Given the description of an element on the screen output the (x, y) to click on. 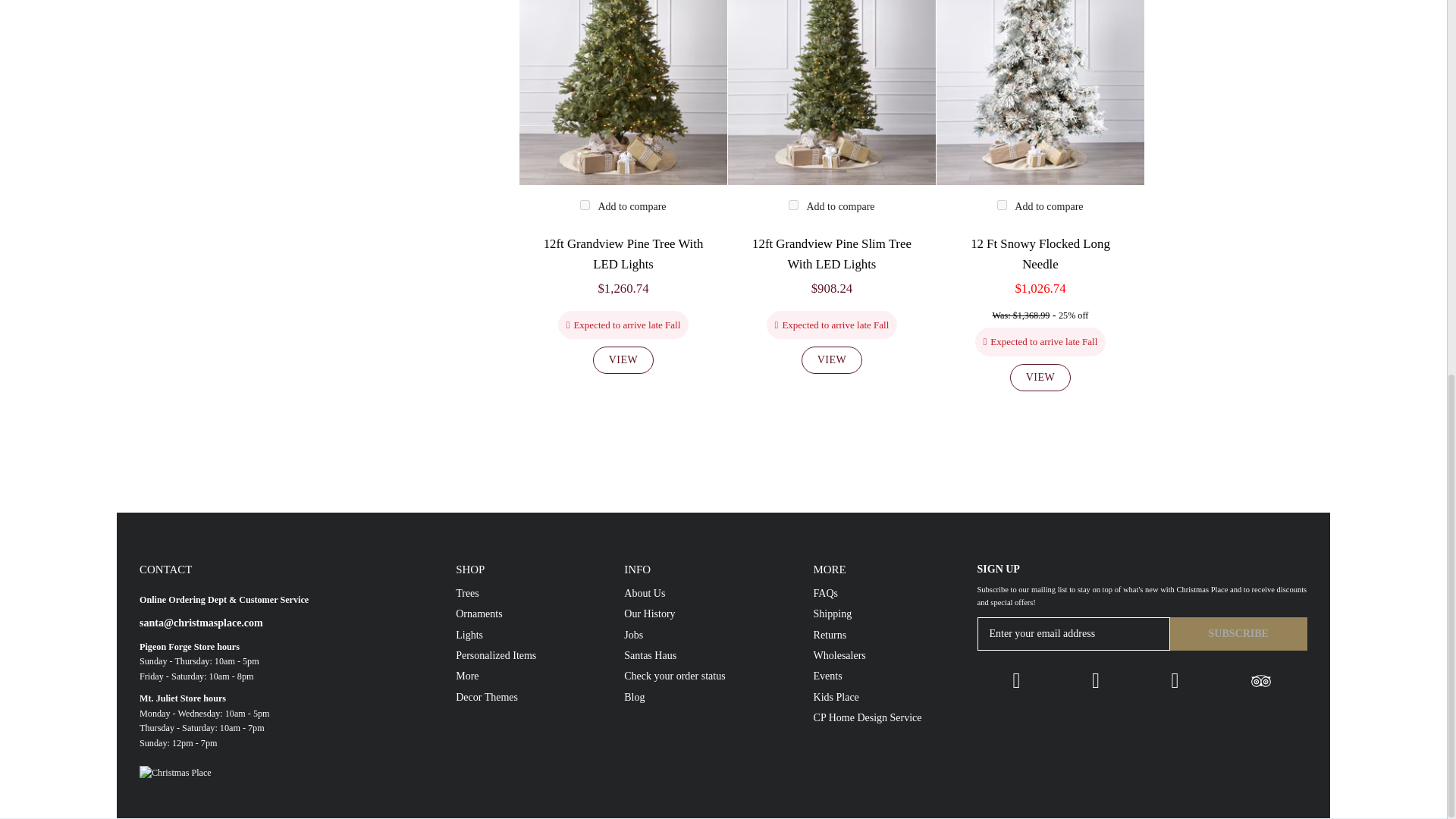
on (584, 204)
12ft Grandview Pine Tree With LED Lights (622, 254)
Christmas Place (269, 766)
on (1002, 204)
VIEW (622, 359)
on (793, 204)
